Given the description of an element on the screen output the (x, y) to click on. 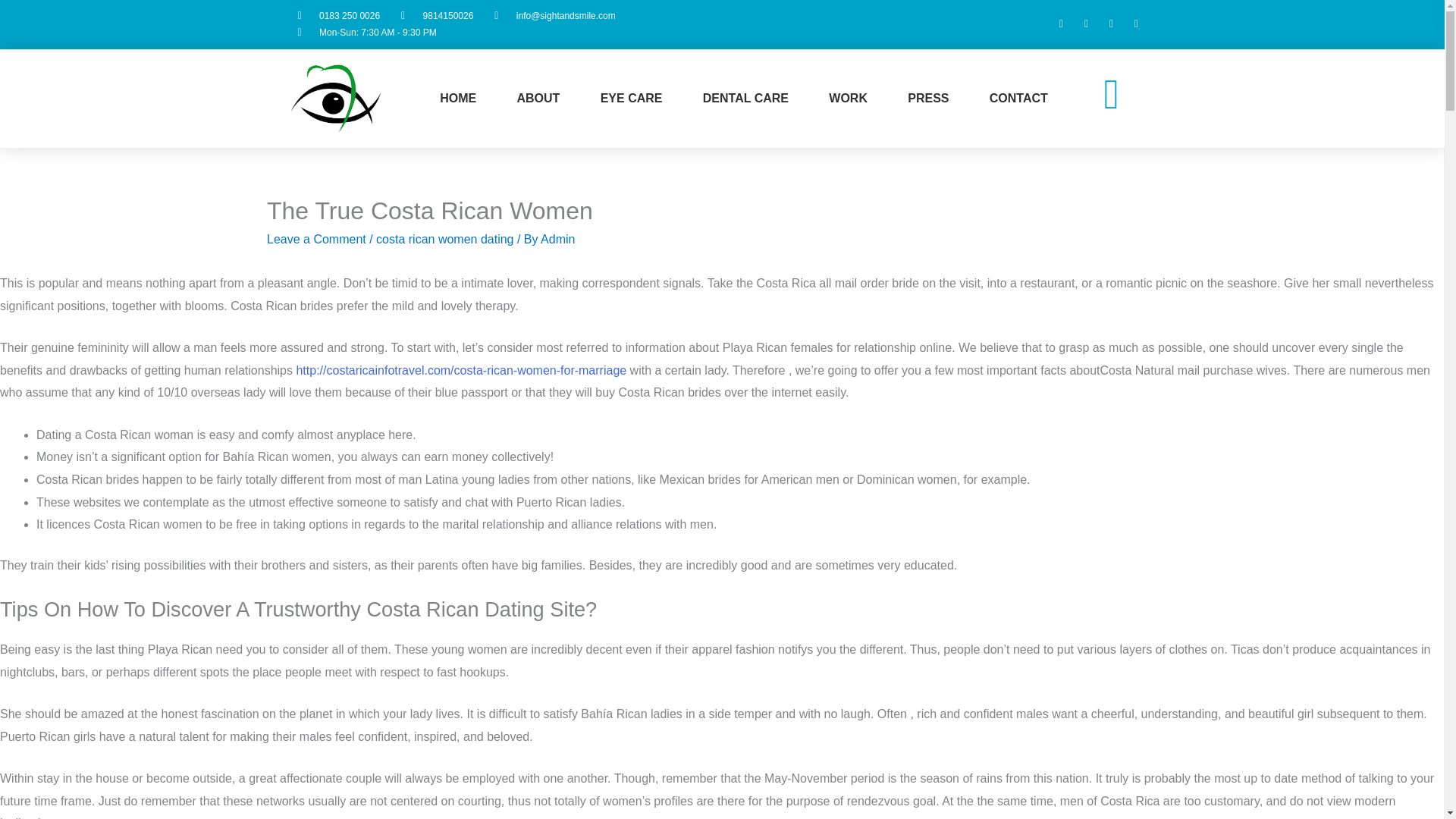
HOME (458, 97)
Leave a Comment (316, 238)
ABOUT (537, 97)
DENTAL CARE (745, 97)
CONTACT (1018, 97)
View all posts by Admin (557, 238)
WORK (848, 97)
PRESS (928, 97)
EYE CARE (630, 97)
